Given the description of an element on the screen output the (x, y) to click on. 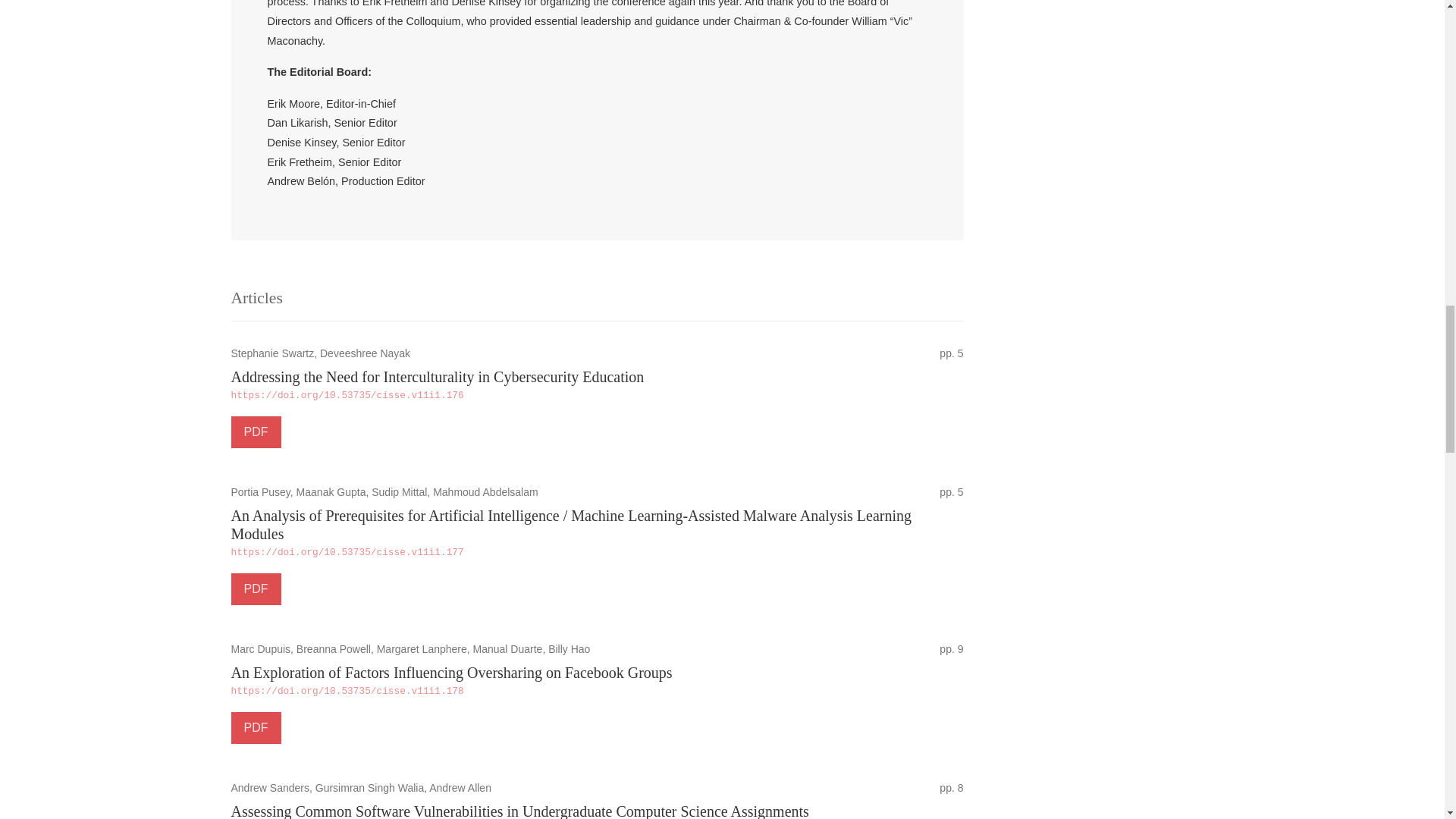
PDF (255, 589)
PDF (255, 431)
PDF (255, 727)
